Given the description of an element on the screen output the (x, y) to click on. 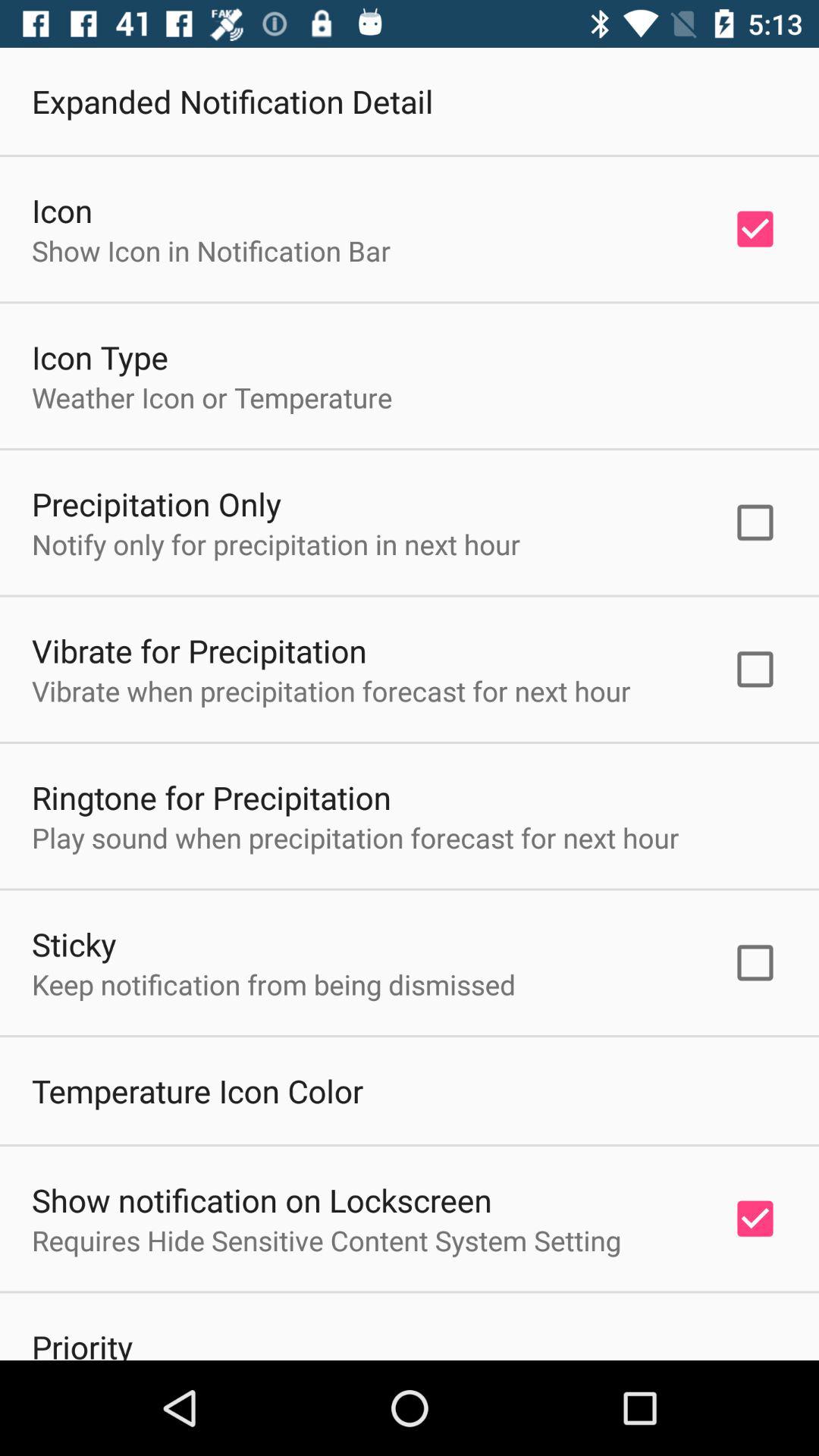
choose the item below precipitation only (275, 544)
